Given the description of an element on the screen output the (x, y) to click on. 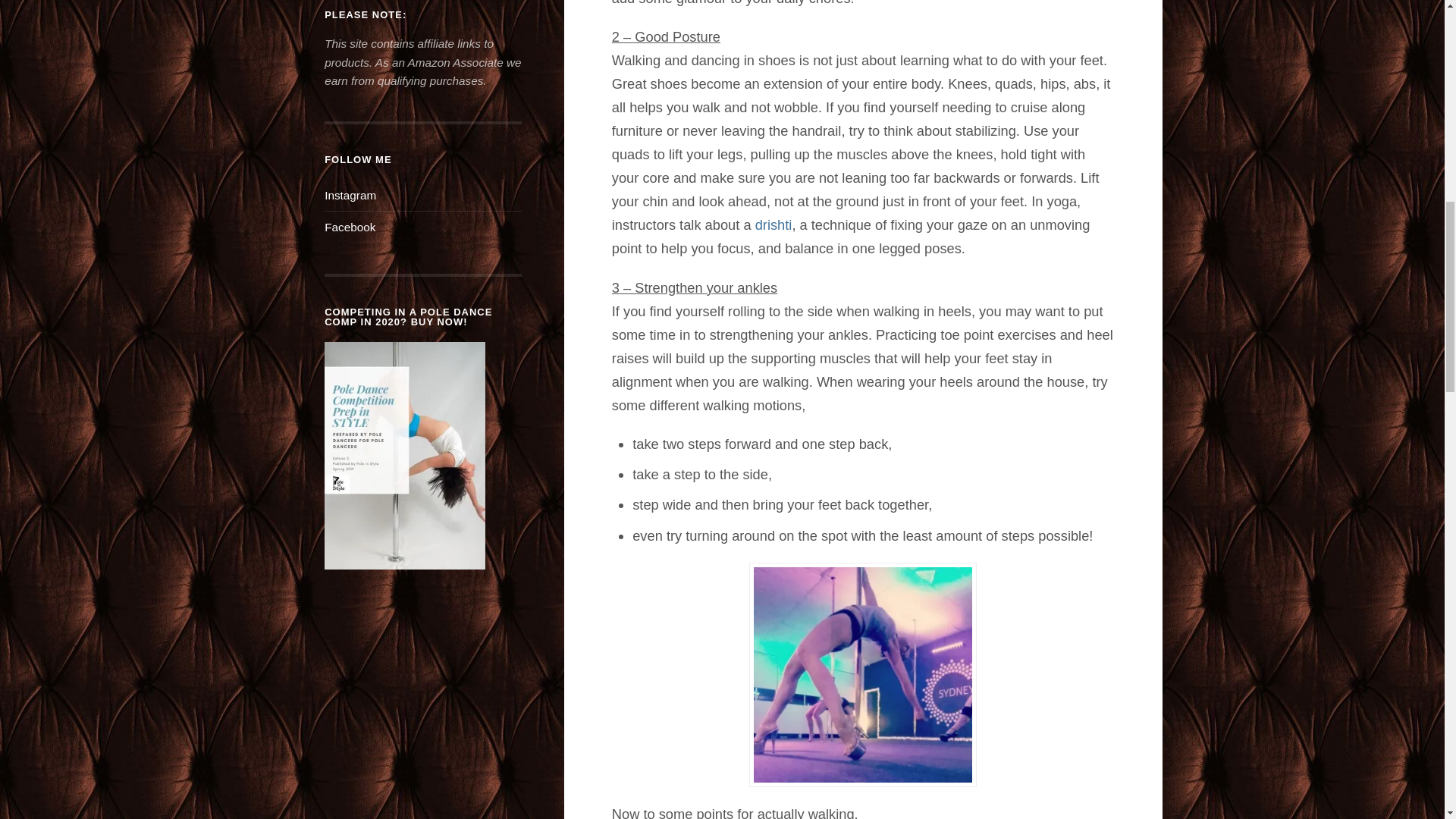
drishti (773, 224)
Facebook (349, 226)
Instagram (349, 195)
